Given the description of an element on the screen output the (x, y) to click on. 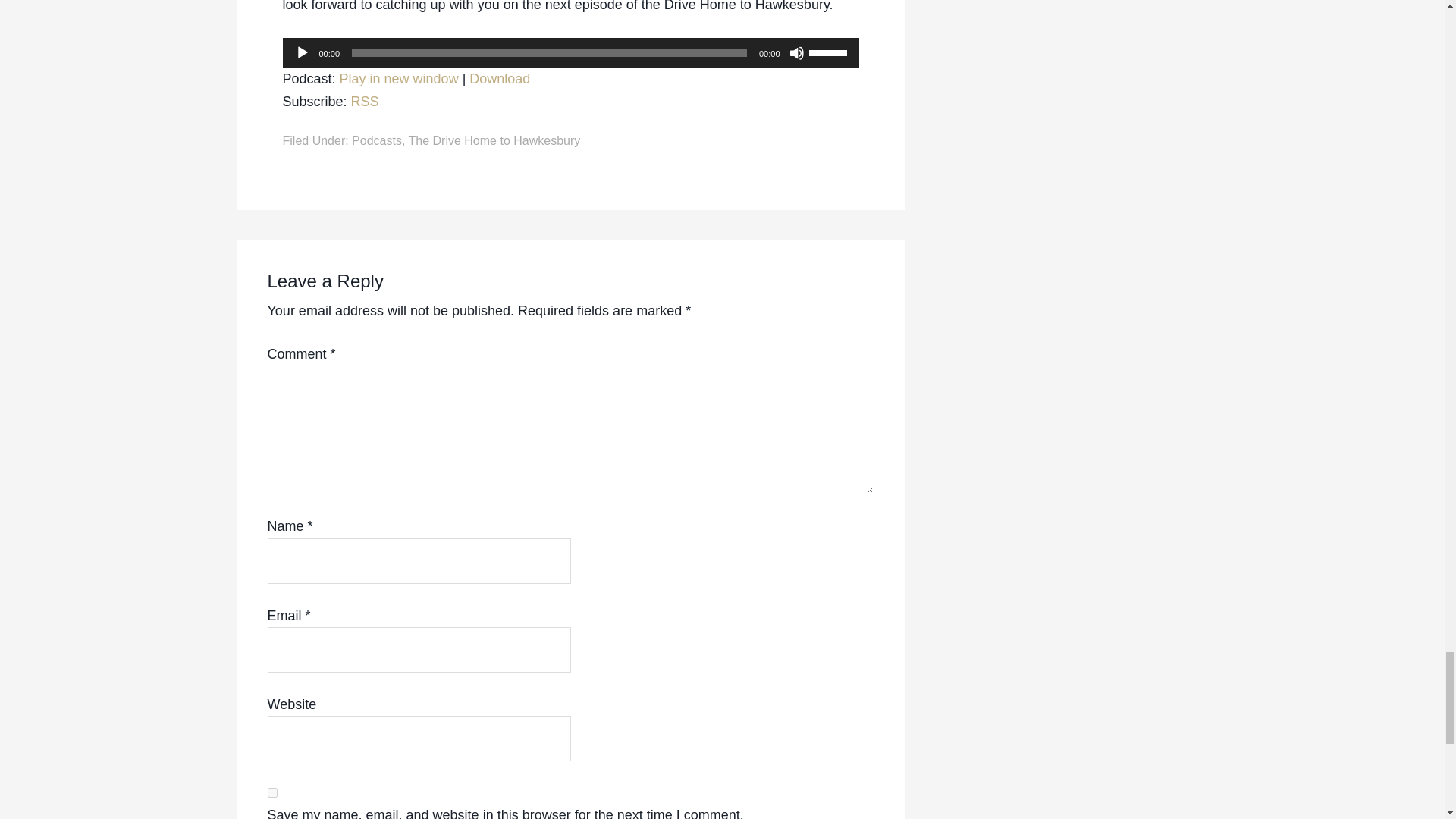
yes (271, 792)
Mute (796, 52)
Play in new window (398, 78)
Play in new window (398, 78)
Subscribe via RSS (364, 101)
Download (498, 78)
Play (301, 52)
